Given the description of an element on the screen output the (x, y) to click on. 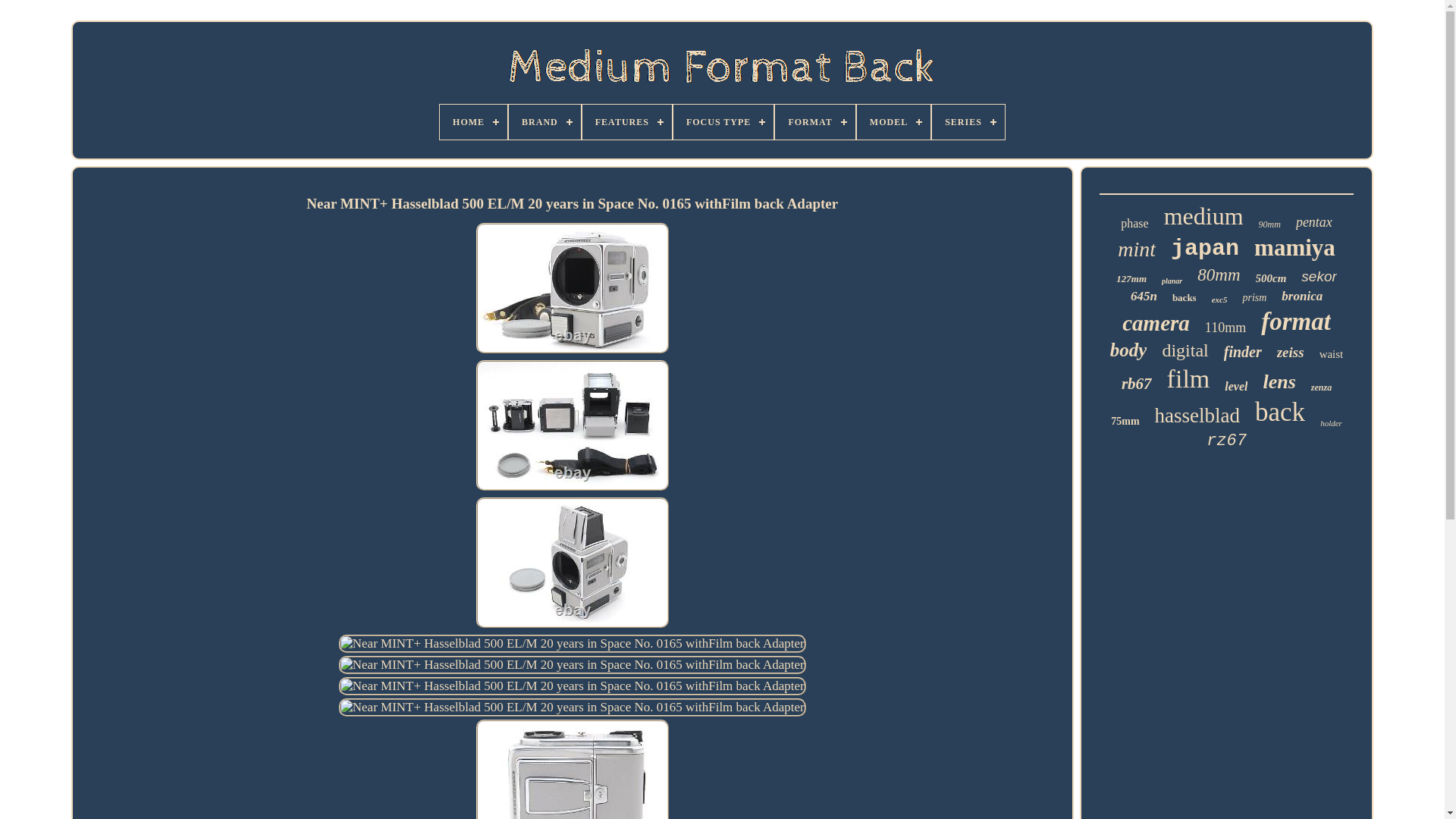
HOME (472, 121)
BRAND (544, 121)
FEATURES (626, 121)
